Given the description of an element on the screen output the (x, y) to click on. 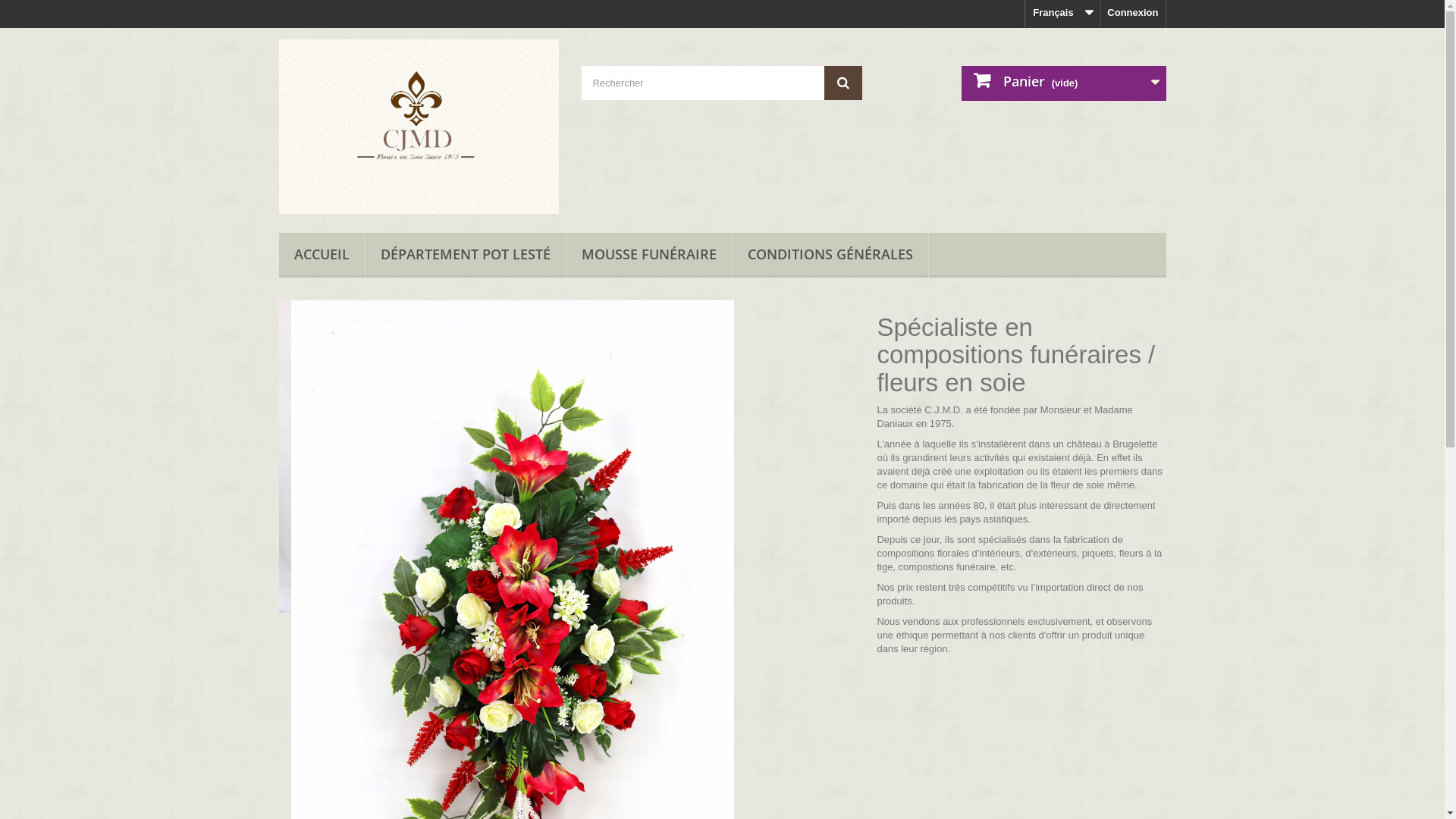
CJMD Element type: hover (419, 126)
ACCUEIL Element type: text (321, 254)
Connexion Element type: text (1132, 14)
Panier (vide) Element type: text (1063, 82)
